Given the description of an element on the screen output the (x, y) to click on. 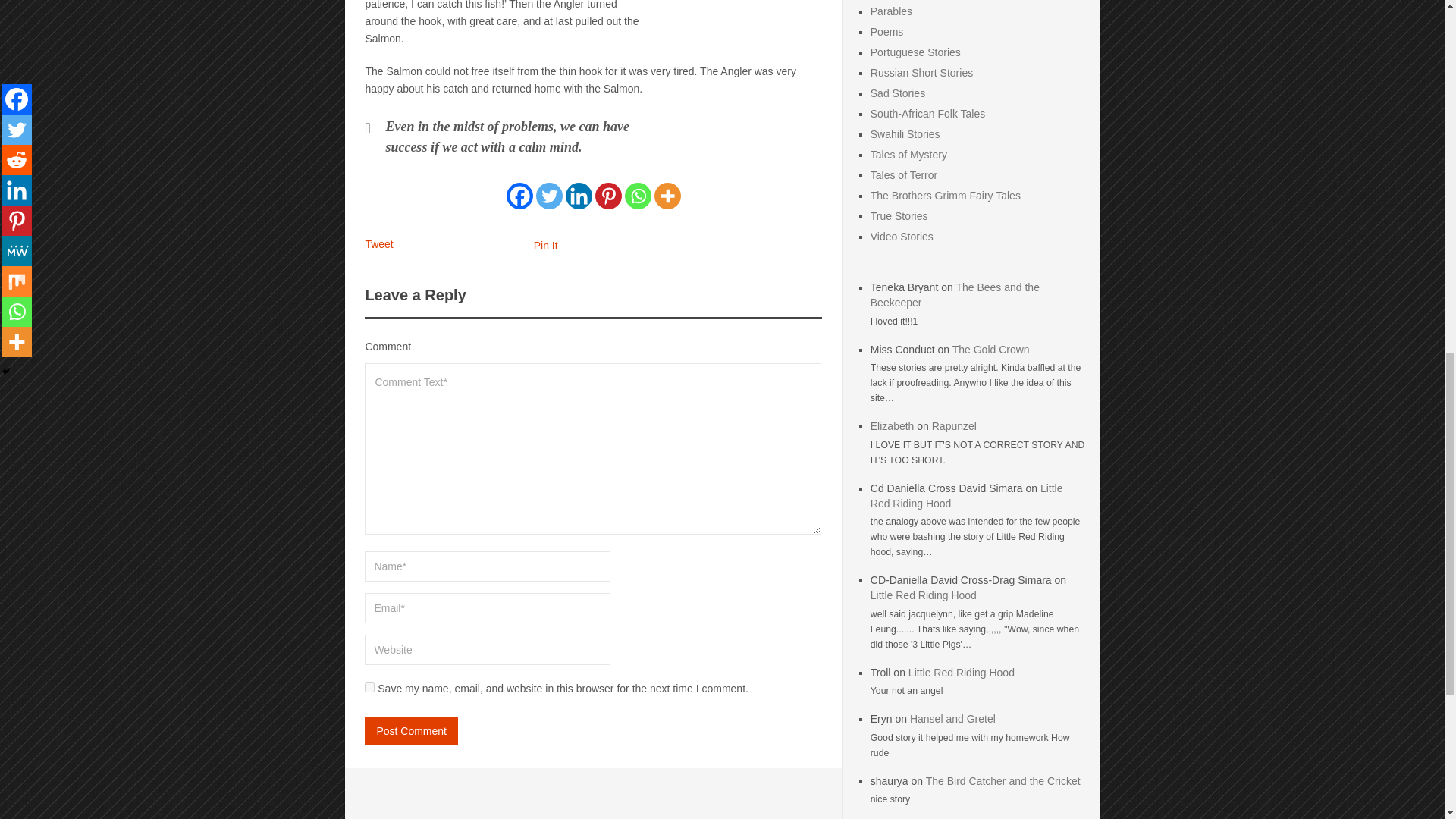
Linkedin (579, 195)
Facebook (519, 195)
Whatsapp (637, 195)
Twitter (548, 195)
More (667, 195)
yes (369, 687)
Post Comment (411, 730)
Pinterest (608, 195)
